Given the description of an element on the screen output the (x, y) to click on. 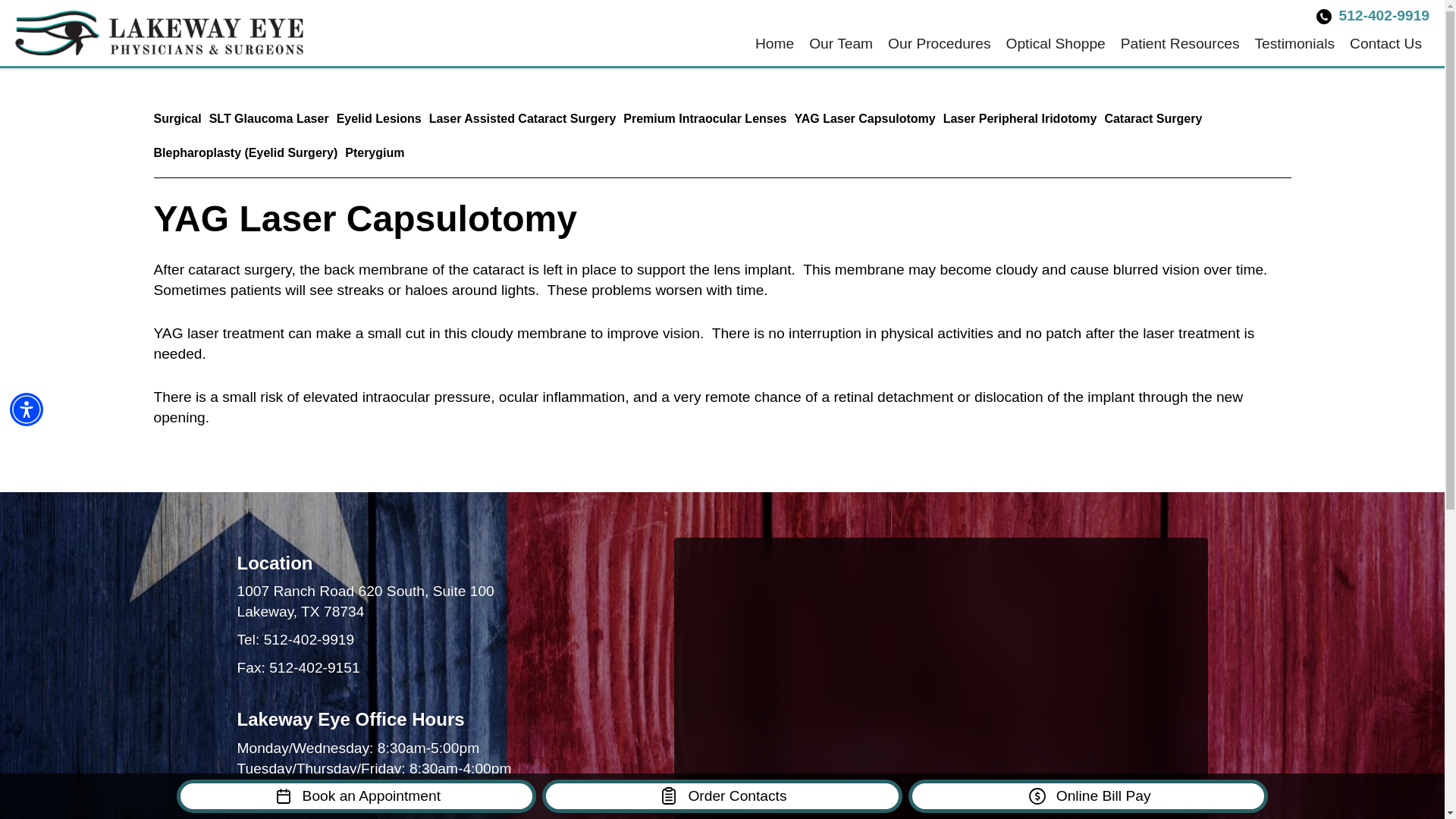
Optical Shoppe (1055, 44)
Contact Us (1385, 44)
Home (775, 44)
Patient Resources (1180, 44)
Testimonials (1294, 44)
Optical Shoppe (1055, 44)
Our Procedures (938, 44)
Surgical (176, 118)
Book an Appointment (355, 796)
512-402-9919 (309, 639)
Eyelid Lesions (379, 118)
Patient Resources (1180, 44)
Order Contacts (721, 796)
Laser Peripheral Iridotomy (1020, 118)
SLT Glaucoma Laser (269, 118)
